Given the description of an element on the screen output the (x, y) to click on. 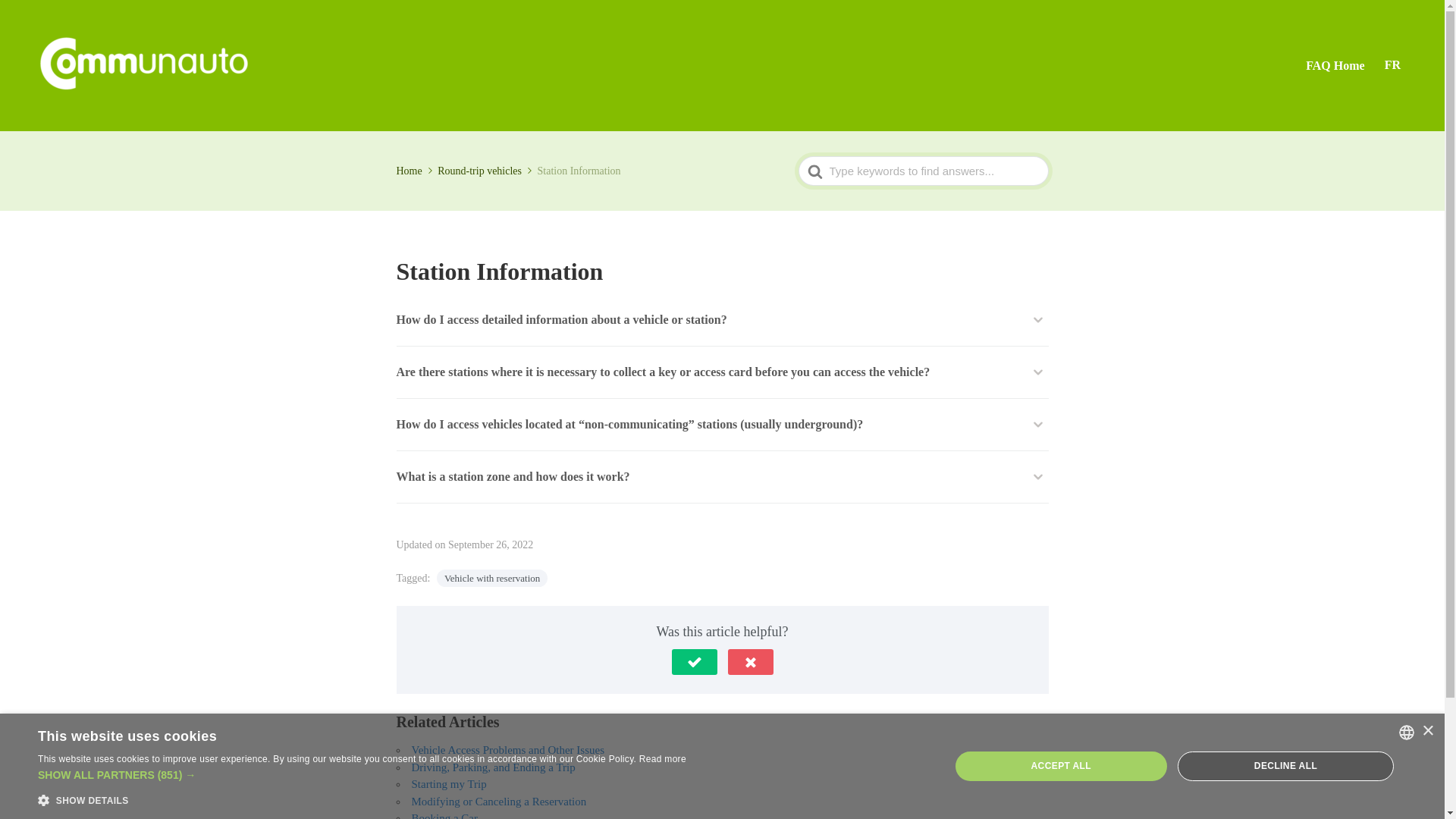
Vehicle with reservation (491, 578)
Driving, Parking, and Ending a Trip (492, 767)
FR (1392, 65)
Modifying or Canceling a Reservation (498, 801)
Round-trip vehicles (486, 170)
FAQ Home (1335, 64)
Starting my Trip (448, 784)
Vehicle Access Problems and Other Issues (507, 749)
Booking a Car (443, 815)
Home (414, 170)
Read more (662, 758)
